Given the description of an element on the screen output the (x, y) to click on. 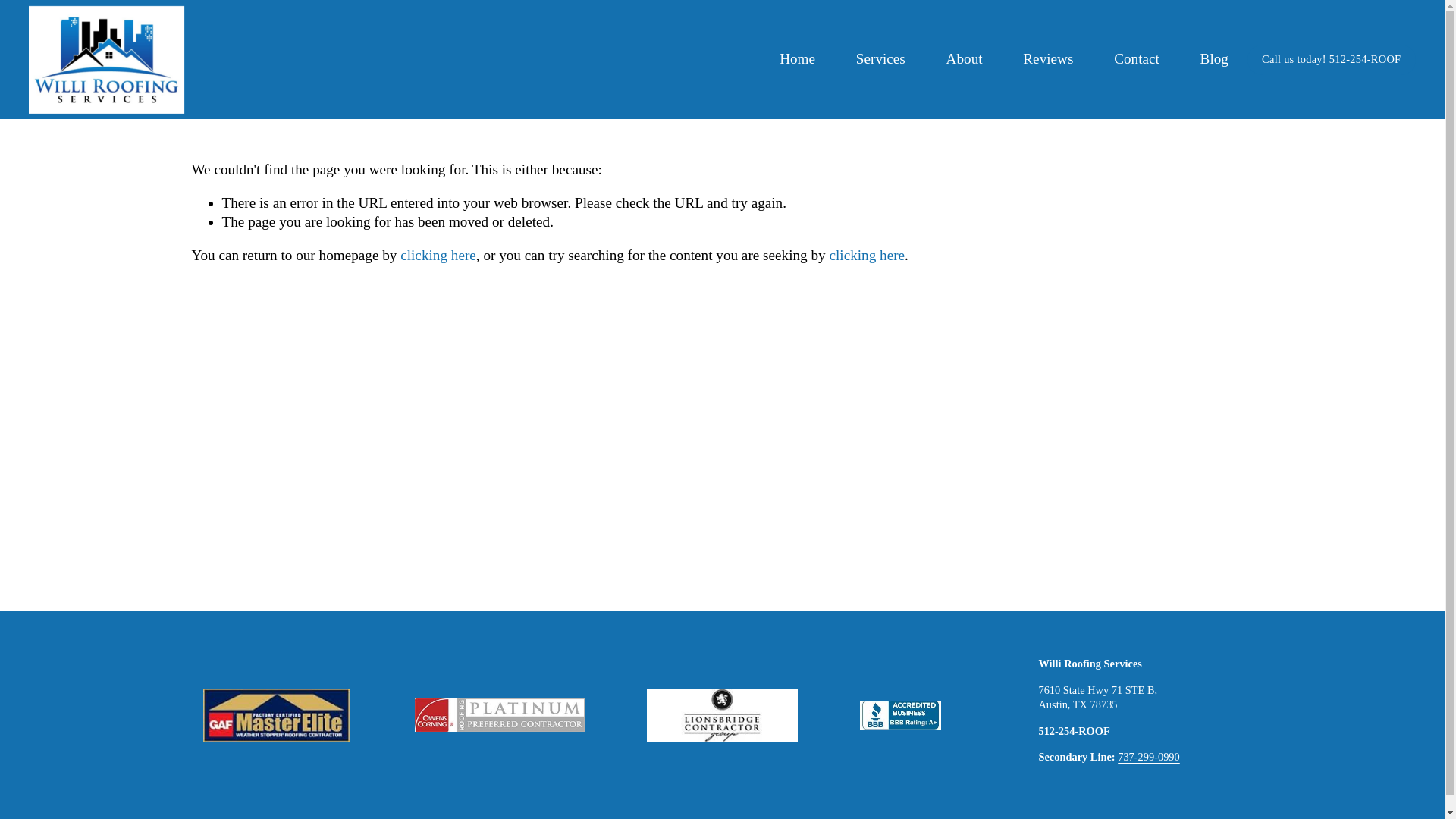
Contact (1135, 59)
Home (796, 59)
Services (880, 59)
737-299-0990 (1148, 757)
clicking here (866, 254)
clicking here (438, 254)
Blog (1213, 59)
Reviews (1048, 59)
About (964, 59)
Call us today! 512-254-ROOF (1331, 60)
